Given the description of an element on the screen output the (x, y) to click on. 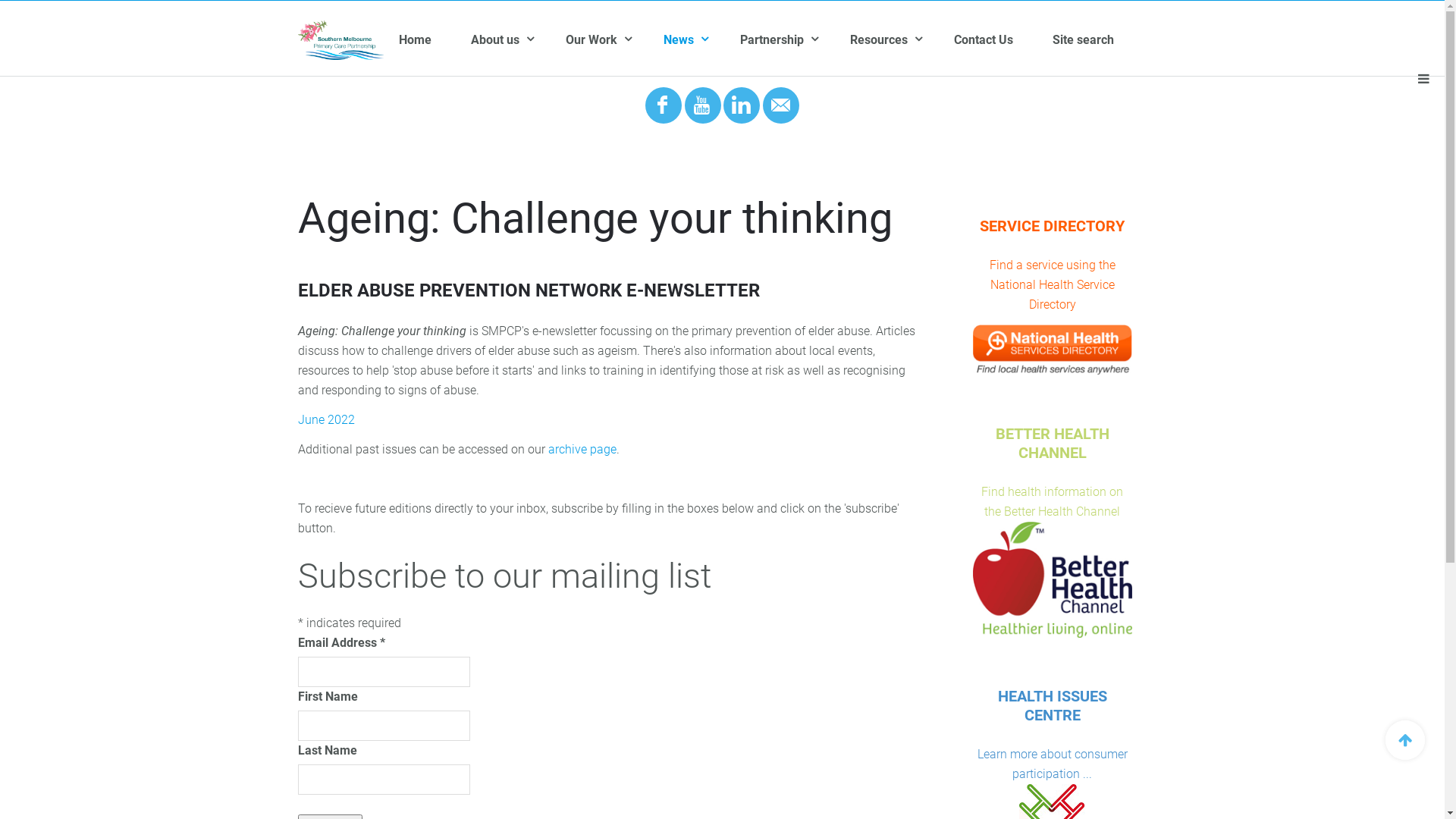
archive page Element type: text (581, 449)
ELDER ABUSE PREVENTION NETWORK E-NEWSLETTER Element type: text (528, 290)
Site search Element type: text (1102, 39)
About us Element type: text (517, 39)
Contact Us Element type: text (1002, 39)
June 2022 Element type: text (325, 419)
Southern Melbourne Primary Care Partnership - SMPCP Element type: hover (340, 39)
Our Work Element type: text (614, 39)
Home Element type: text (434, 39)
Resources Element type: text (901, 39)
News Element type: text (701, 39)
Back to Top Element type: hover (1404, 739)
Partnership Element type: text (795, 39)
